Given the description of an element on the screen output the (x, y) to click on. 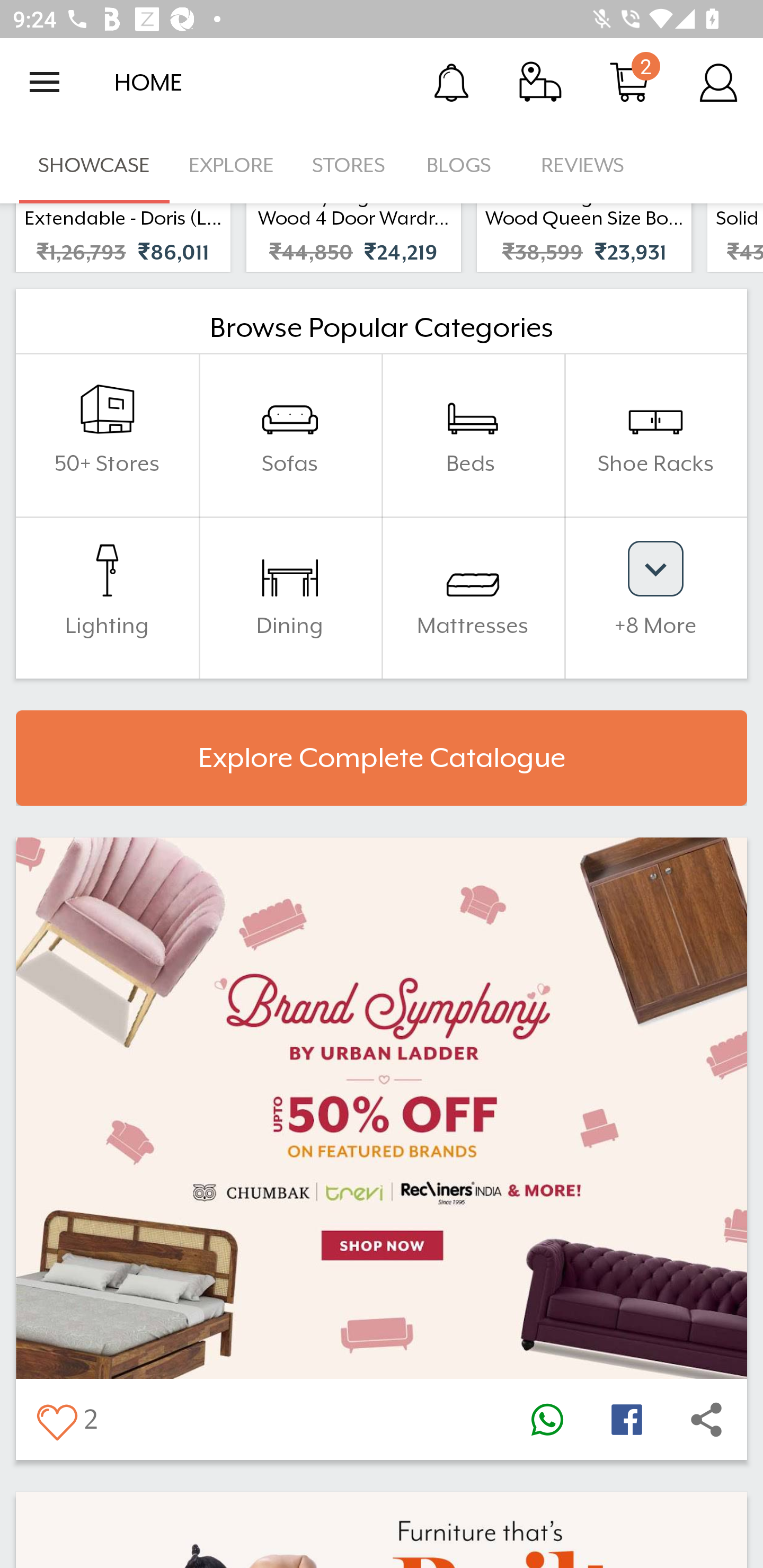
Open navigation drawer (44, 82)
Notification (450, 81)
Track Order (540, 81)
Cart (629, 81)
Account Details (718, 81)
SHOWCASE (94, 165)
EXPLORE (230, 165)
STORES (349, 165)
BLOGS (464, 165)
REVIEWS (582, 165)
50+ Stores (106, 434)
Sofas (289, 434)
Beds  (473, 434)
Shoe Racks (655, 434)
Lighting (106, 597)
Dining (289, 597)
Mattresses (473, 597)
 +8 More (655, 597)
Explore Complete Catalogue (381, 757)
 (55, 1419)
 (547, 1419)
 (626, 1419)
 (706, 1419)
